Given the description of an element on the screen output the (x, y) to click on. 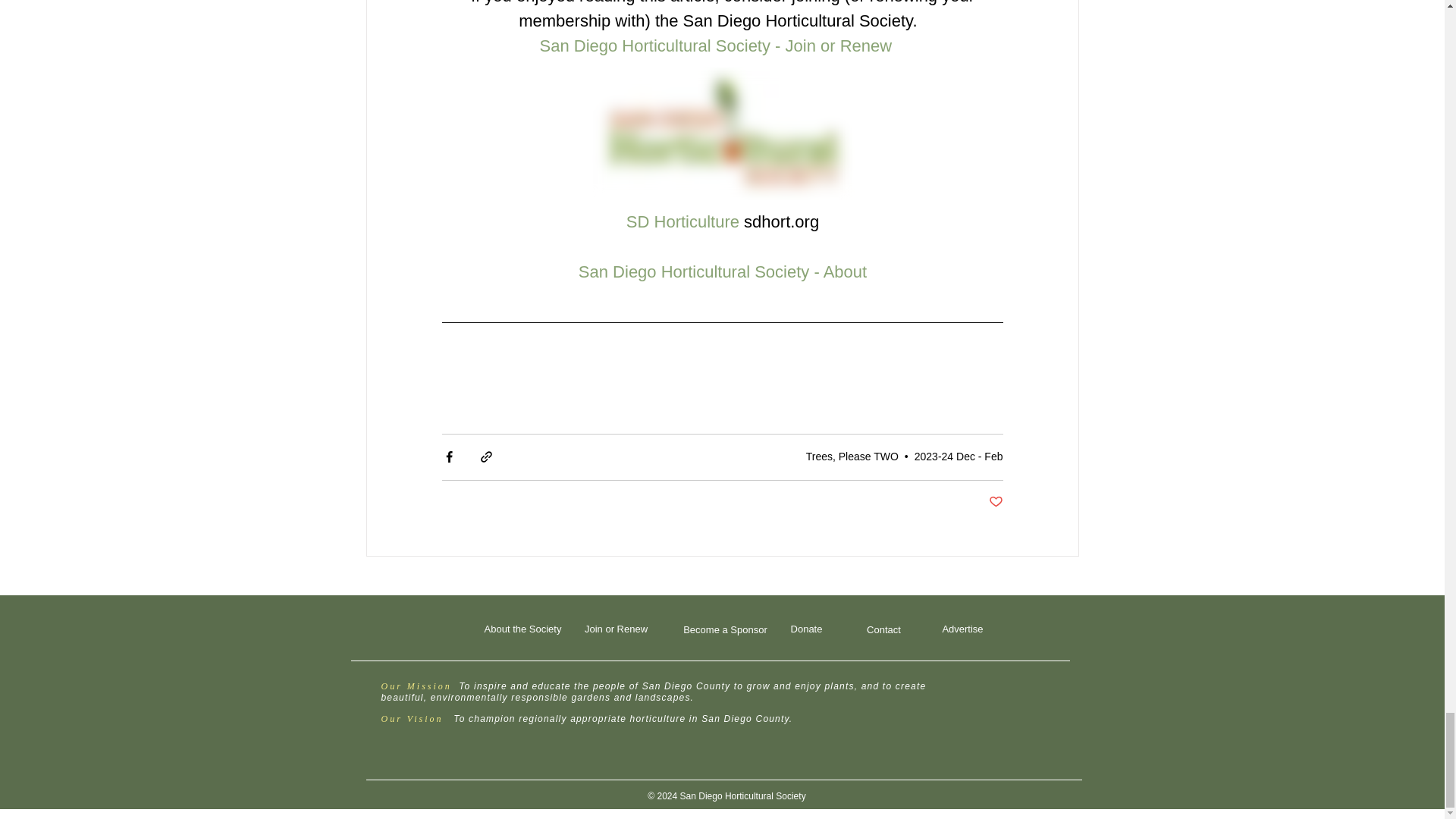
SD Horticulture (682, 221)
2023-24 Dec - Feb (958, 456)
Become a Sponsor (724, 630)
About the Society (522, 630)
Join or Renew (615, 630)
Donate (805, 630)
Trees, Please TWO (852, 456)
Advertise (961, 630)
San Diego Horticultural Society - Join or Renew (714, 45)
Post not marked as liked (995, 502)
San Diego Horticultural Society - About (722, 271)
Contact (882, 630)
